Given the description of an element on the screen output the (x, y) to click on. 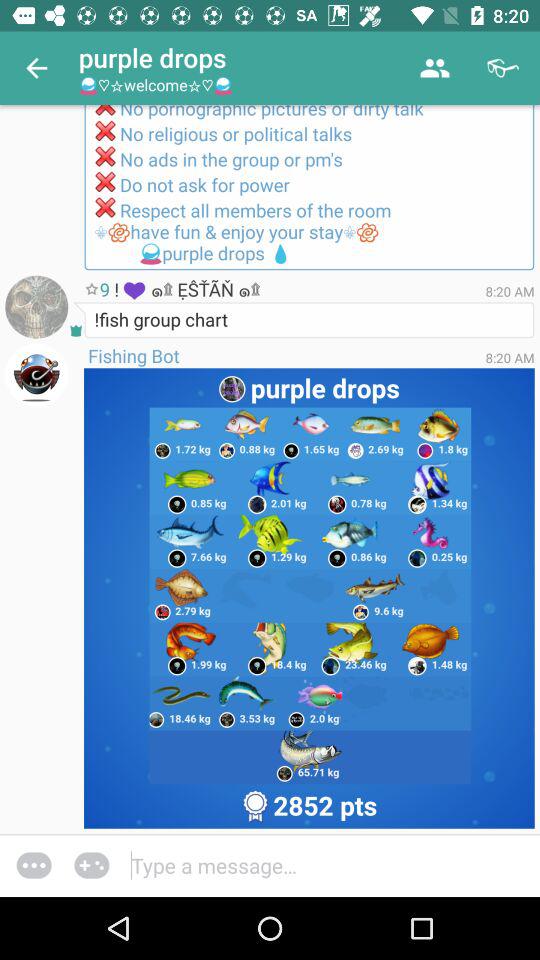
flip to the please follow the (309, 187)
